Given the description of an element on the screen output the (x, y) to click on. 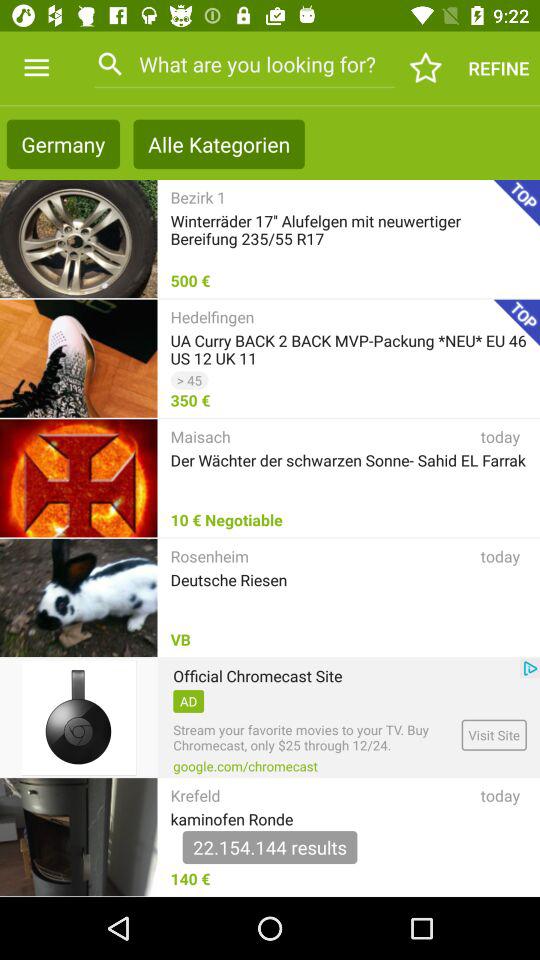
launch icon next to the visit site (245, 766)
